Given the description of an element on the screen output the (x, y) to click on. 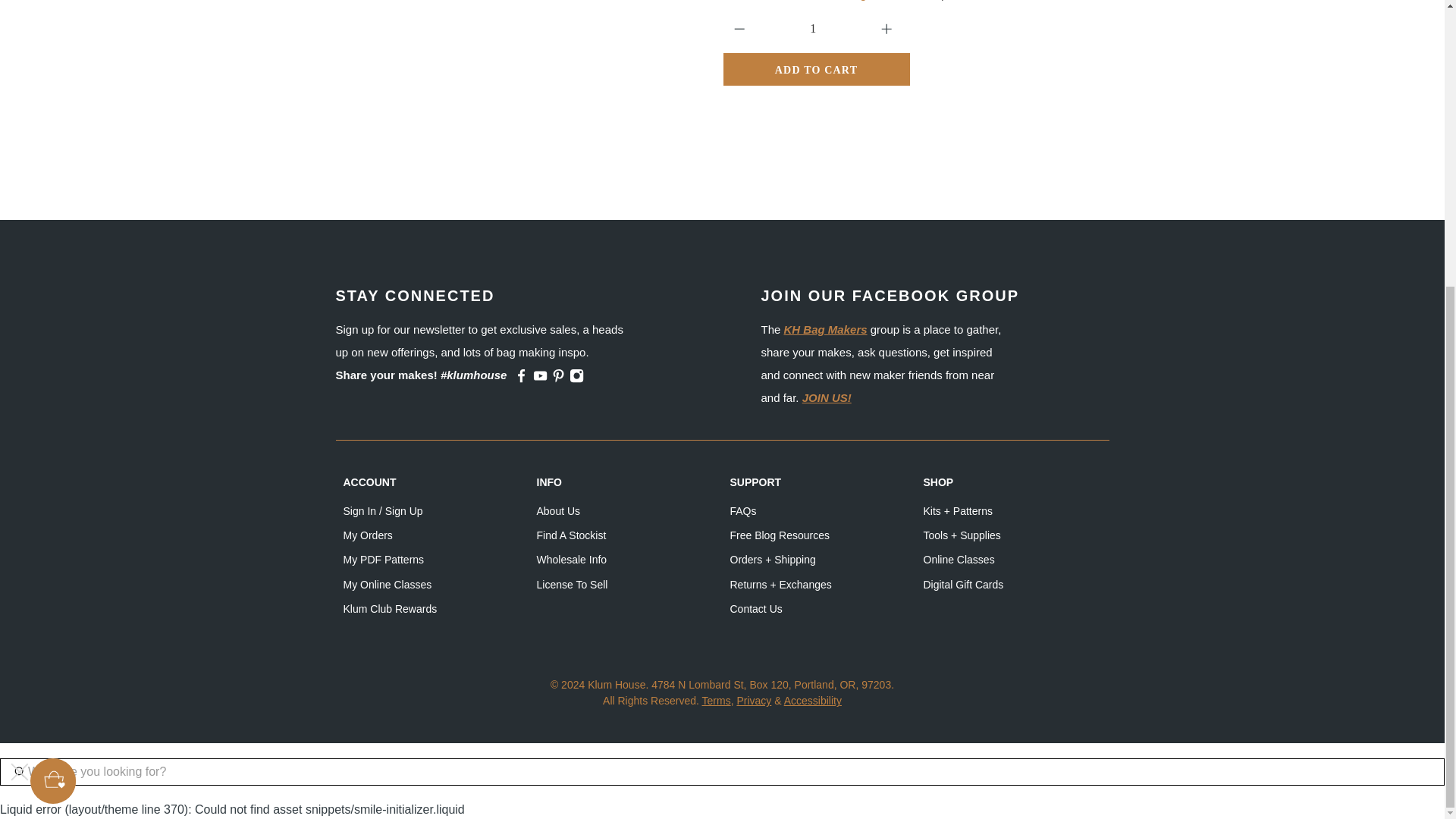
Terms (715, 700)
Klum House on Instagram (576, 378)
Privacy (753, 700)
1 (813, 29)
Klum House on Facebook (520, 378)
Klum House on Pinterest (558, 378)
Klum House on YouTube (539, 378)
Accessibility (812, 700)
